Given the description of an element on the screen output the (x, y) to click on. 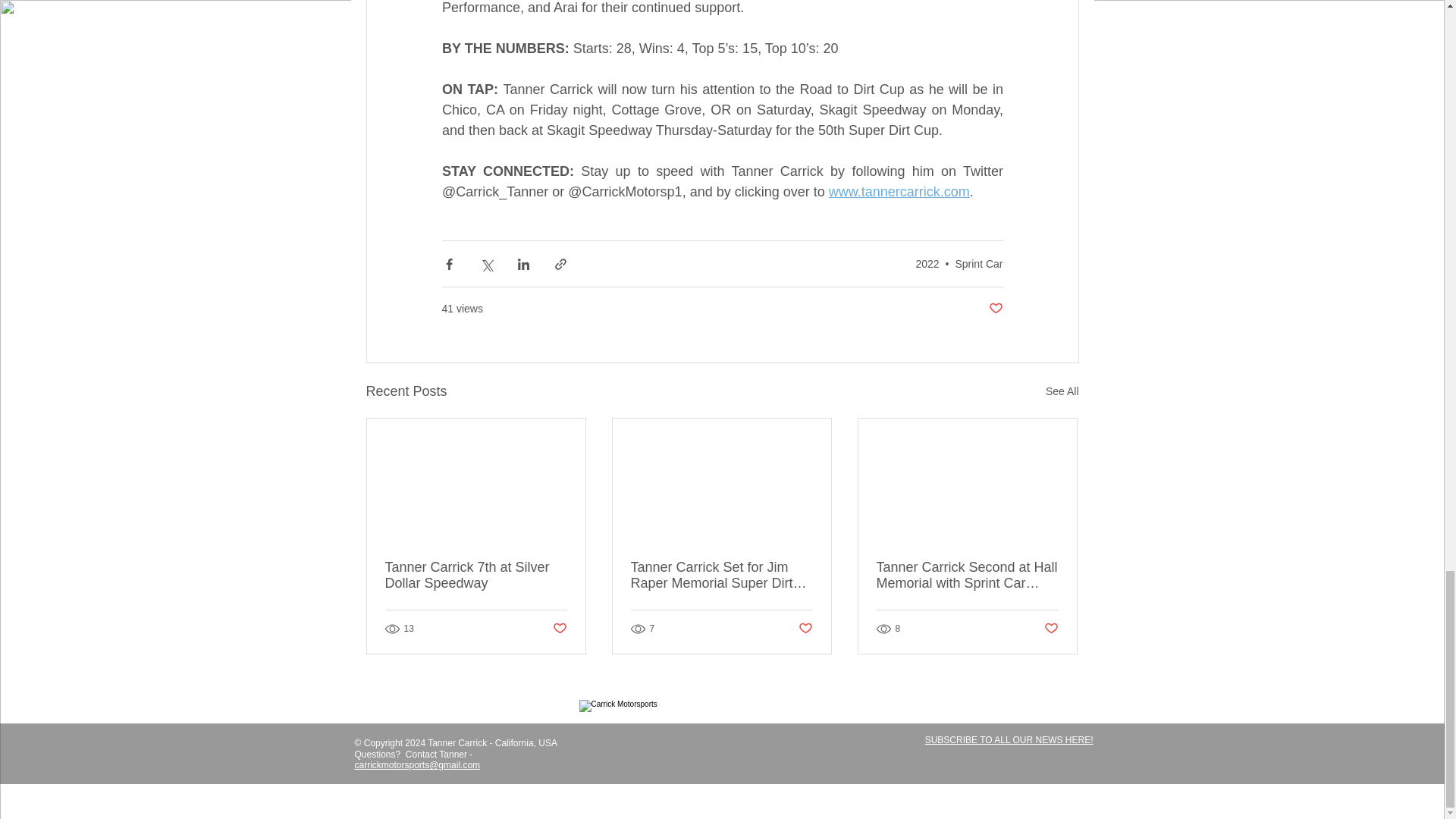
Post not marked as liked (558, 628)
2022 (927, 263)
Sprint Car (979, 263)
Carrick Motorsports (751, 753)
Post not marked as liked (1050, 628)
Tanner Carrick 7th at Silver Dollar Speedway (476, 575)
See All (1061, 391)
www.tannercarrick.com (898, 191)
Post not marked as liked (804, 628)
Post not marked as liked (995, 308)
